Given the description of an element on the screen output the (x, y) to click on. 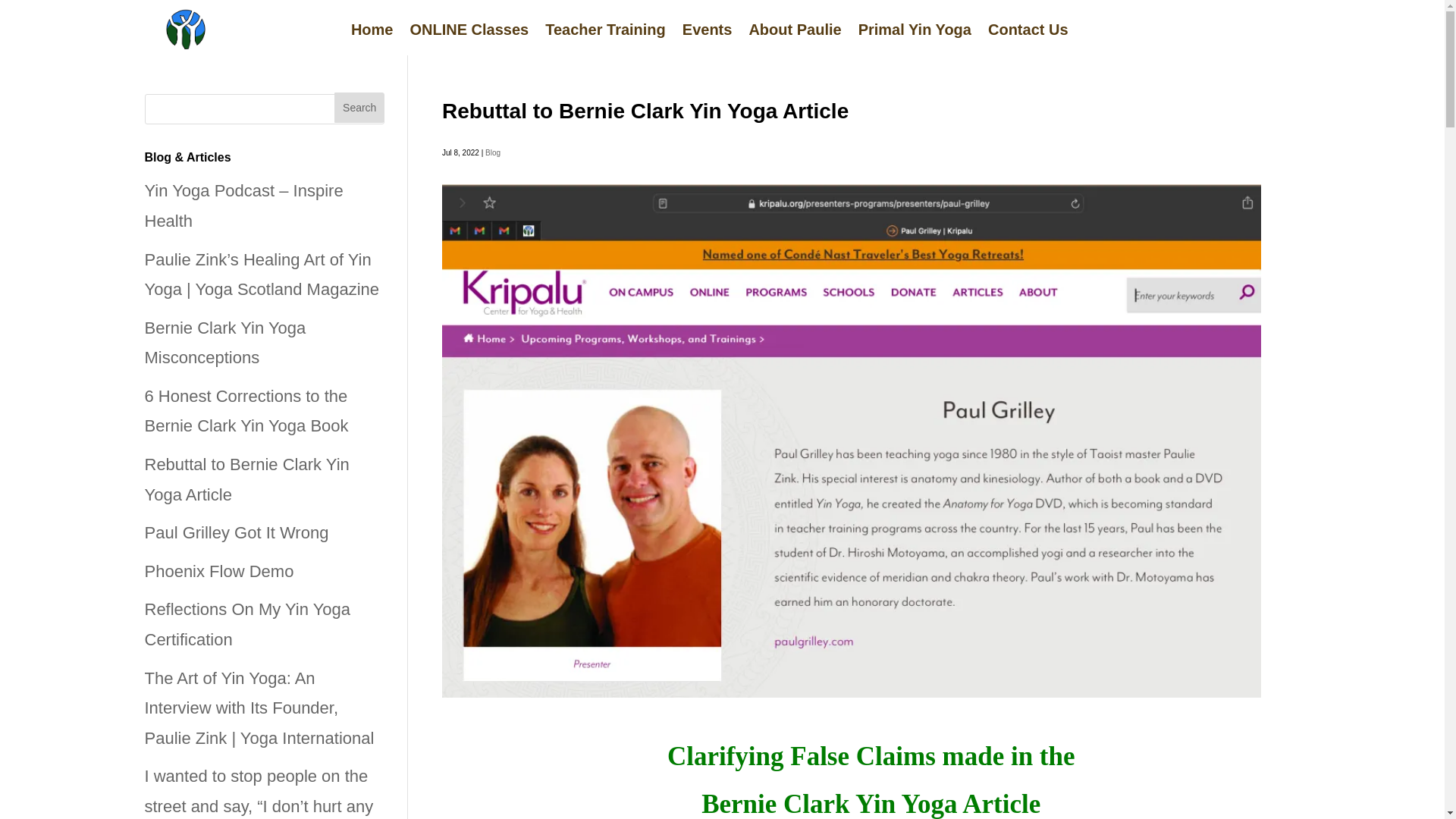
Yin Yoga Founder (185, 29)
About Paulie (794, 32)
Blog (492, 152)
Contact Us (1028, 32)
Bernie Clark Yin Yoga Misconceptions (224, 342)
Search (359, 107)
ONLINE Classes (468, 32)
Reflections On My Yin Yoga Certification (247, 624)
Events (707, 32)
6 Honest Corrections to the Bernie Clark Yin Yoga Book (245, 410)
